Given the description of an element on the screen output the (x, y) to click on. 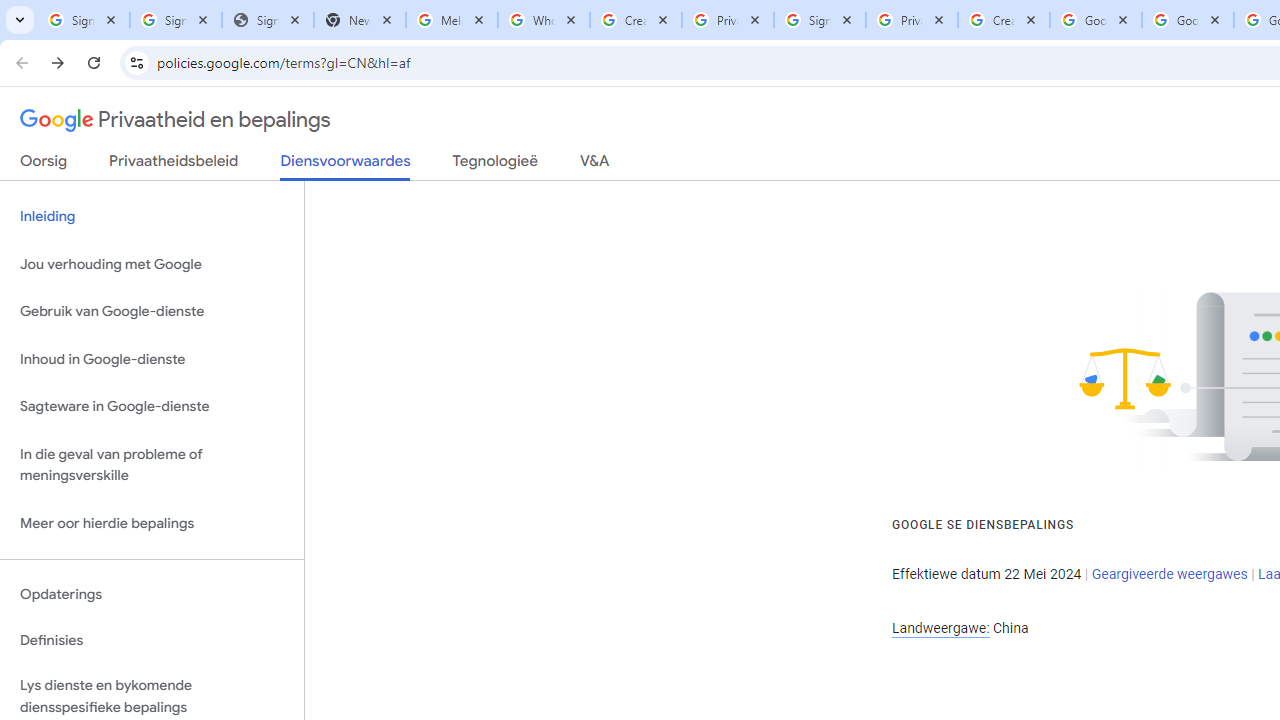
Create your Google Account (1003, 20)
Geargiveerde weergawes (1169, 574)
Gebruik van Google-dienste (152, 312)
In die geval van probleme of meningsverskille (152, 464)
Landweergawe: (940, 628)
Sagteware in Google-dienste (152, 407)
V&A (594, 165)
Opdaterings (152, 594)
